Given the description of an element on the screen output the (x, y) to click on. 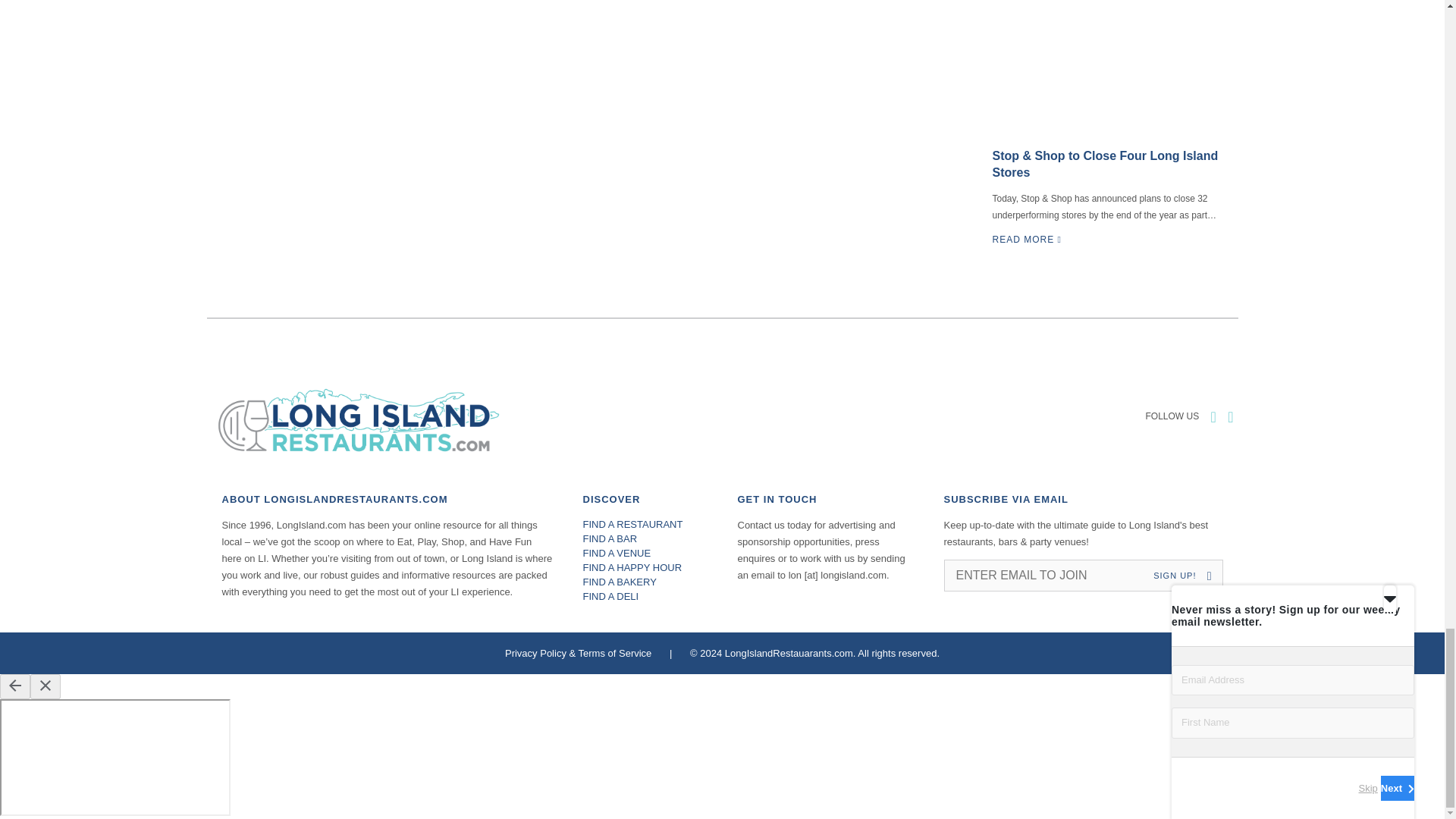
SIGN UP! (1186, 574)
